Given the description of an element on the screen output the (x, y) to click on. 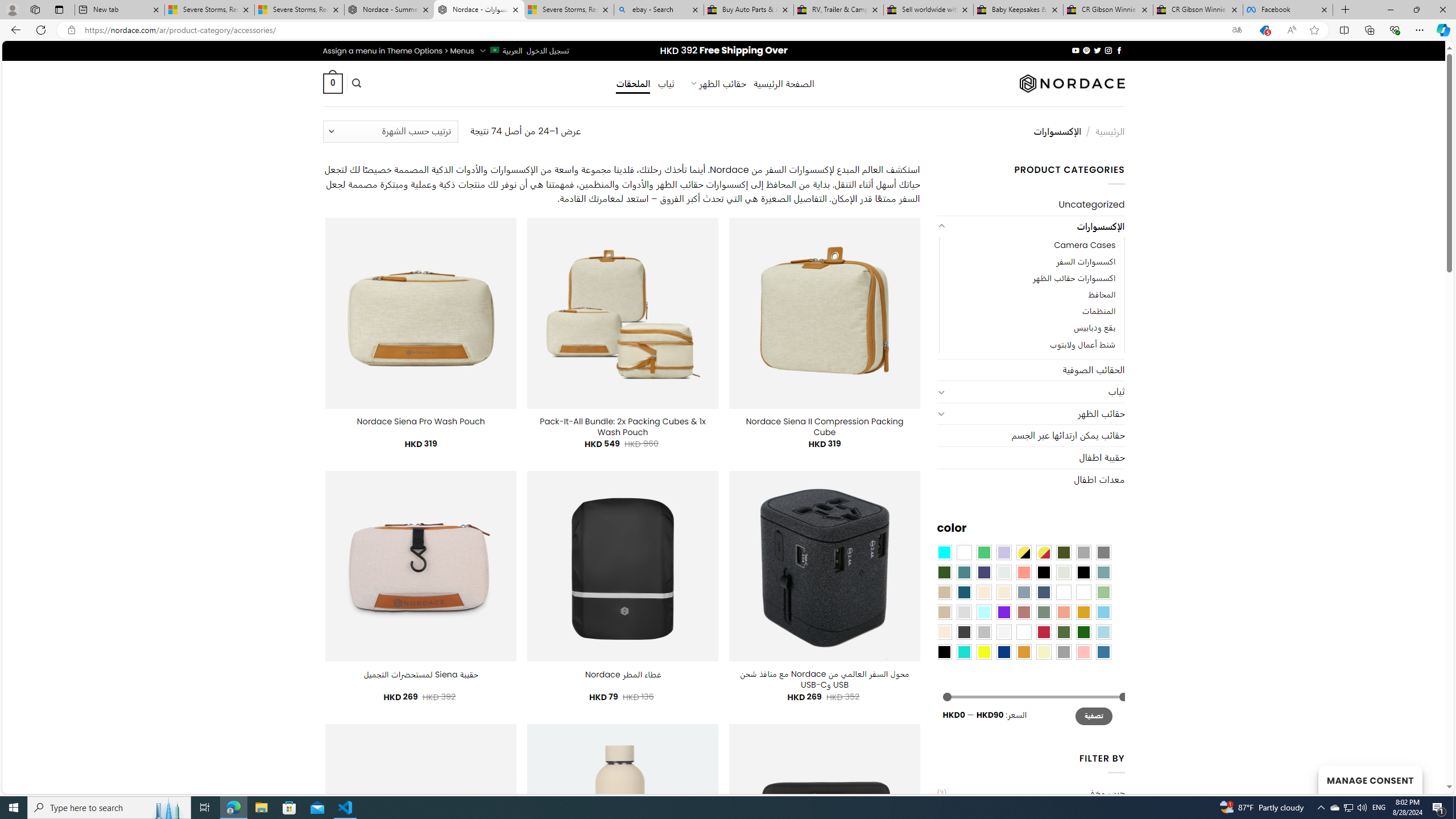
Restore (1416, 9)
Browser essentials (1394, 29)
Purple (1003, 611)
Khaki (1082, 591)
Follow on Instagram (1108, 50)
Uncategorized (1030, 204)
Follow on Twitter (1096, 50)
